Given the description of an element on the screen output the (x, y) to click on. 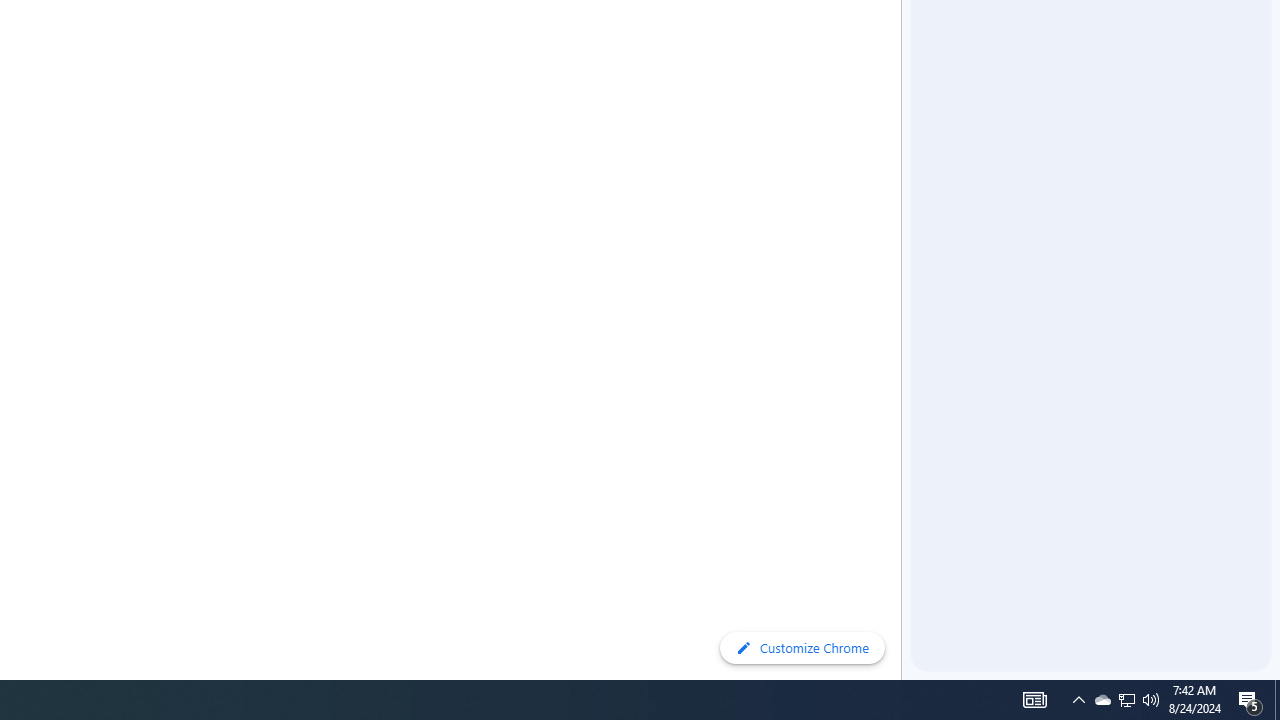
Side Panel Resize Handle (905, 39)
